Given the description of an element on the screen output the (x, y) to click on. 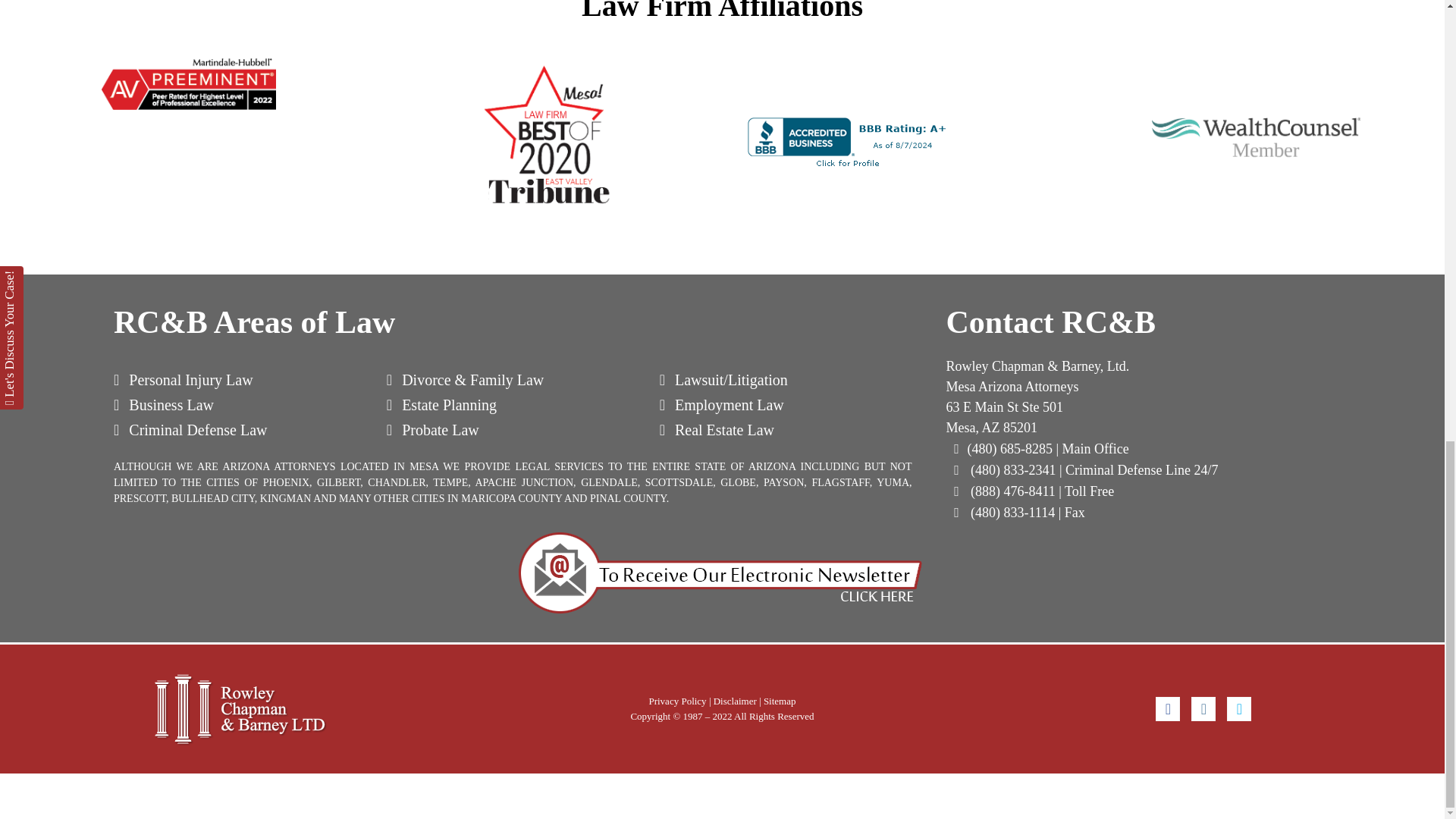
Probate Law (433, 429)
Estate Planning (441, 404)
law-firm-wealth-counsel (1255, 133)
Business Law (163, 404)
Employment Law (721, 404)
Criminal Defense Law (189, 429)
Personal Injury Law (183, 379)
Rowley-Chapman-Barney-LTD-logo-trasparent-white (239, 708)
FIRM-AV-2022 (188, 83)
Real Estate Law (716, 429)
